Given the description of an element on the screen output the (x, y) to click on. 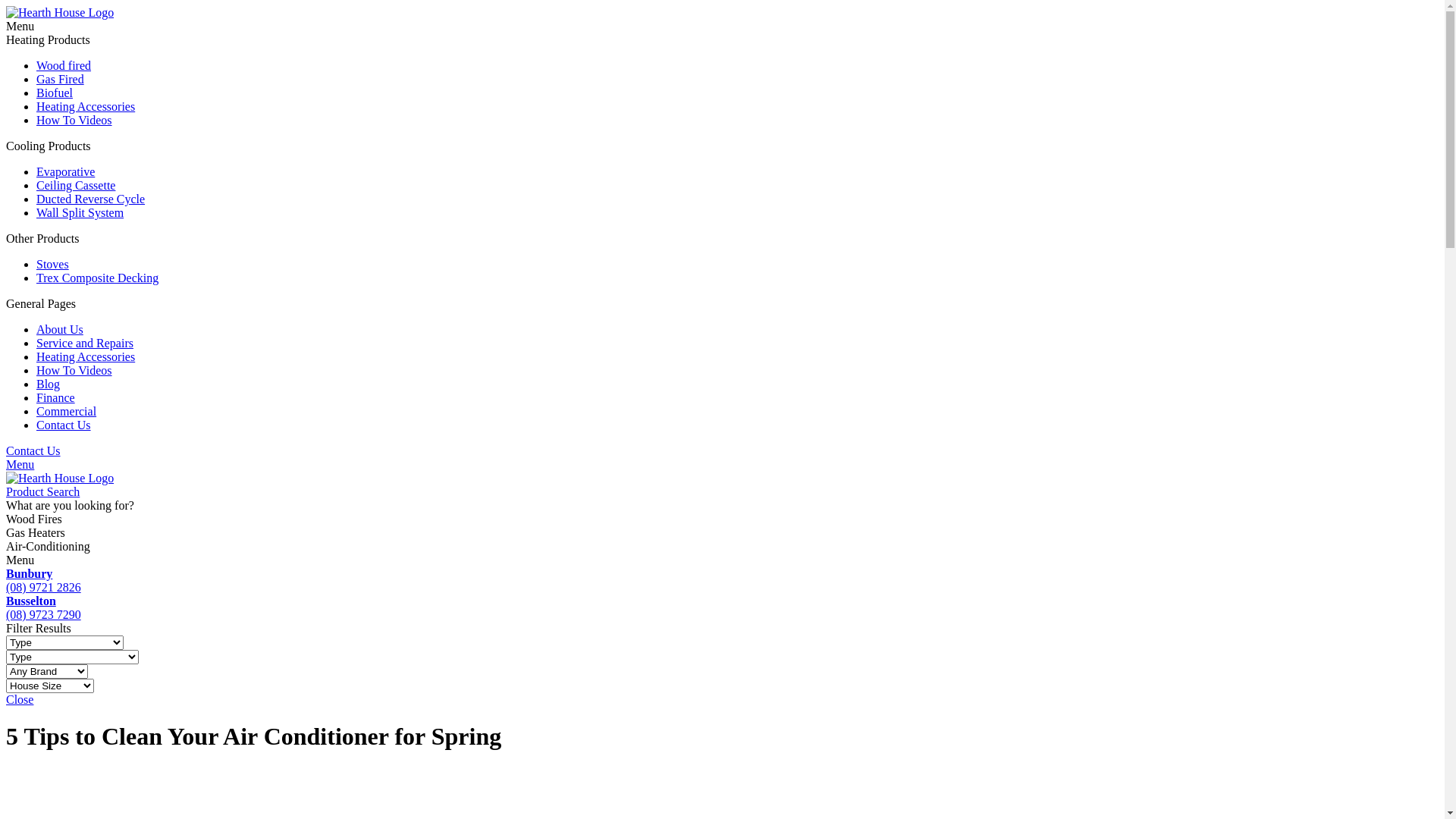
Bunbury
(08) 9721 2826 Element type: text (722, 580)
Wall Split System Element type: text (79, 212)
How To Videos Element type: text (74, 370)
Gas Fired Element type: text (60, 78)
Menu Element type: text (722, 26)
Gas Heaters Element type: text (722, 532)
Stoves Element type: text (52, 263)
Wood Fires Element type: text (722, 519)
Contact Us Element type: text (63, 424)
Heating Accessories Element type: text (85, 106)
Heating Accessories Element type: text (85, 356)
Ducted Reverse Cycle Element type: text (90, 198)
About Us Element type: text (59, 329)
Busselton
(08) 9723 7290 Element type: text (722, 607)
Wood fired Element type: text (63, 65)
Evaporative Element type: text (65, 171)
How To Videos Element type: text (74, 119)
Finance Element type: text (55, 397)
Menu Element type: text (20, 464)
Commercial Element type: text (66, 410)
Contact Us Element type: text (33, 450)
Service and Repairs Element type: text (84, 342)
Biofuel Element type: text (54, 92)
Menu Element type: text (722, 560)
Trex Composite Decking Element type: text (97, 277)
Product Search Element type: text (42, 491)
Ceiling Cassette Element type: text (75, 184)
Air-Conditioning Element type: text (722, 546)
Close Element type: text (19, 699)
Blog Element type: text (47, 383)
